Given the description of an element on the screen output the (x, y) to click on. 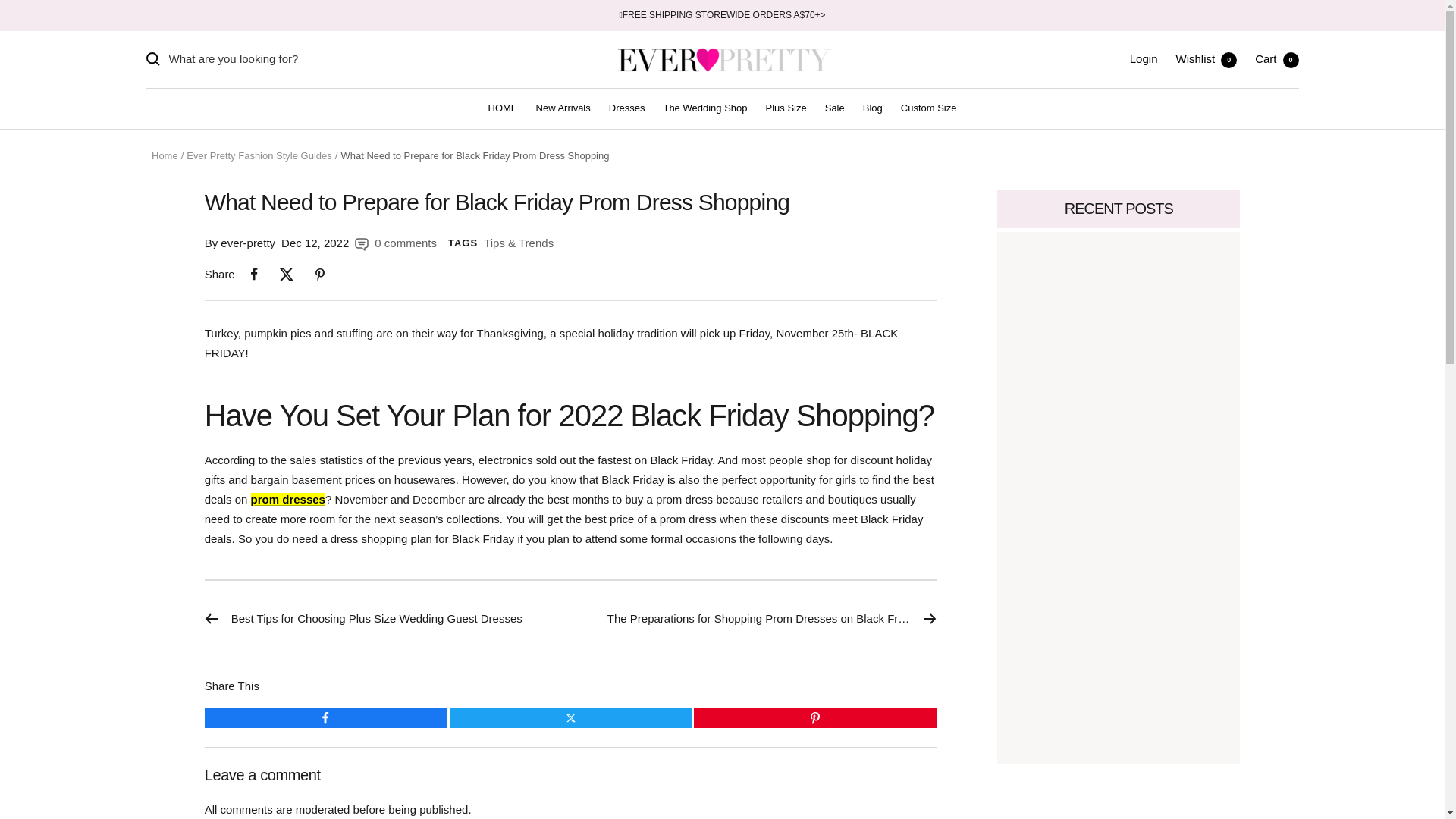
FaceBook (1276, 58)
Blog (325, 718)
Login (872, 108)
HOME (1143, 58)
Pinterest (502, 108)
Custom Size (815, 718)
The Wedding Shop (928, 108)
Sale (704, 108)
